Given the description of an element on the screen output the (x, y) to click on. 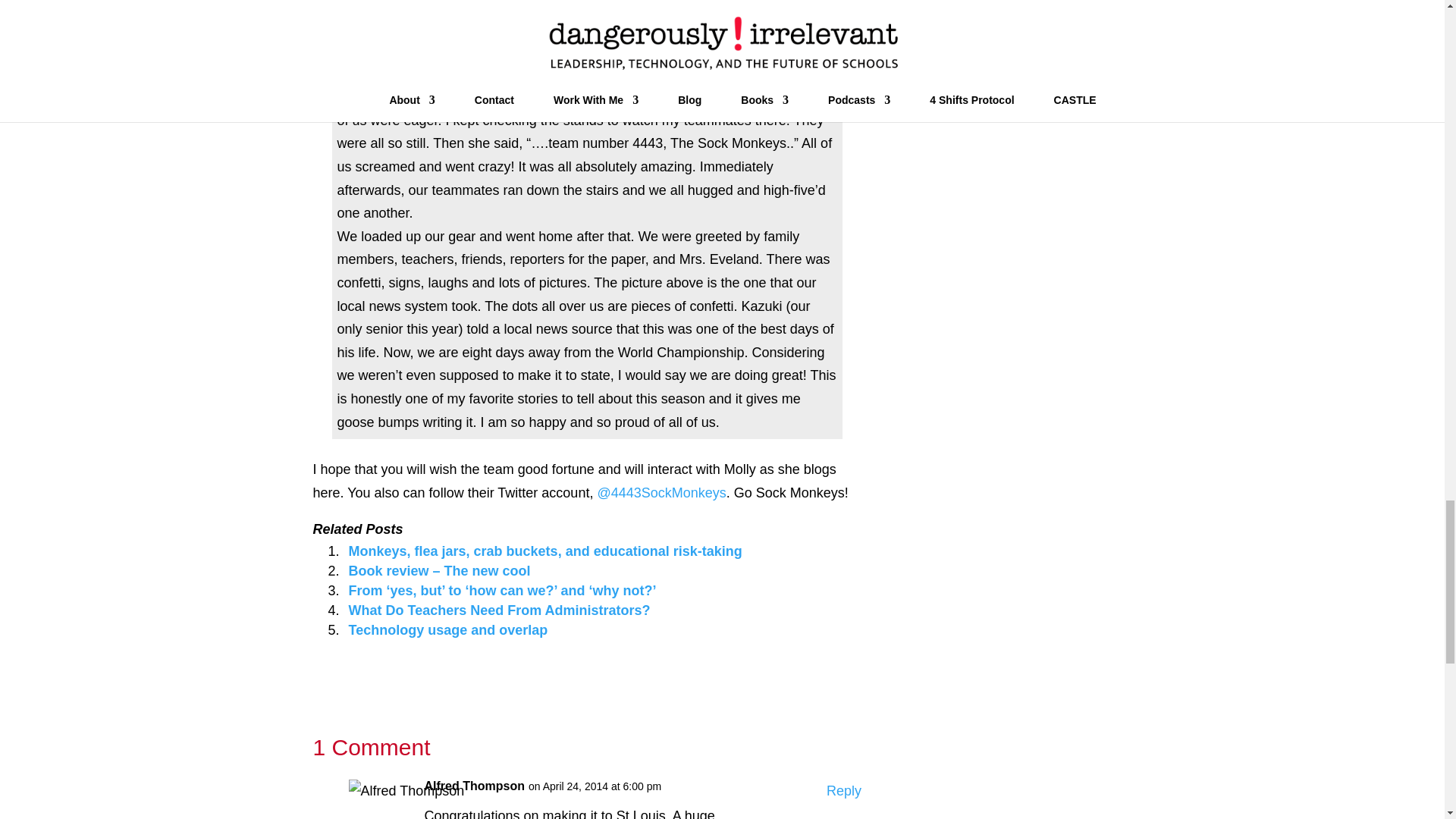
What Do Teachers Need From Administrators? (499, 610)
Reply (844, 791)
What Do Teachers Need From Administrators? (499, 610)
Alfred Thompson (474, 786)
Technology usage and overlap (448, 630)
Technology usage and overlap (448, 630)
